Given the description of an element on the screen output the (x, y) to click on. 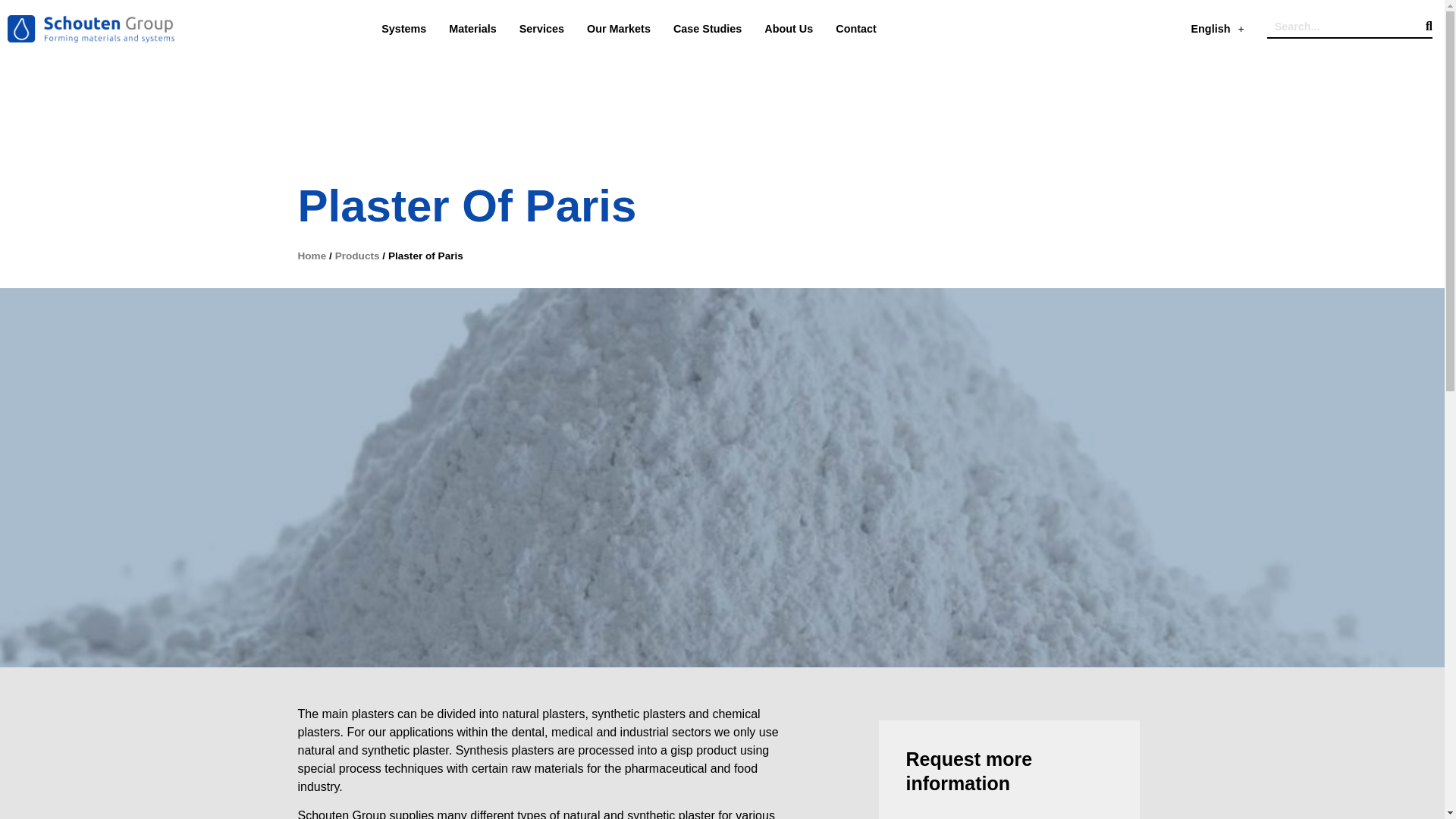
About Us (788, 28)
Services (541, 28)
Our Markets (618, 28)
Contact (855, 28)
Materials (472, 28)
Systems (403, 28)
Home (311, 255)
Products (357, 255)
English (1217, 28)
Case Studies (706, 28)
English (1217, 28)
